Given the description of an element on the screen output the (x, y) to click on. 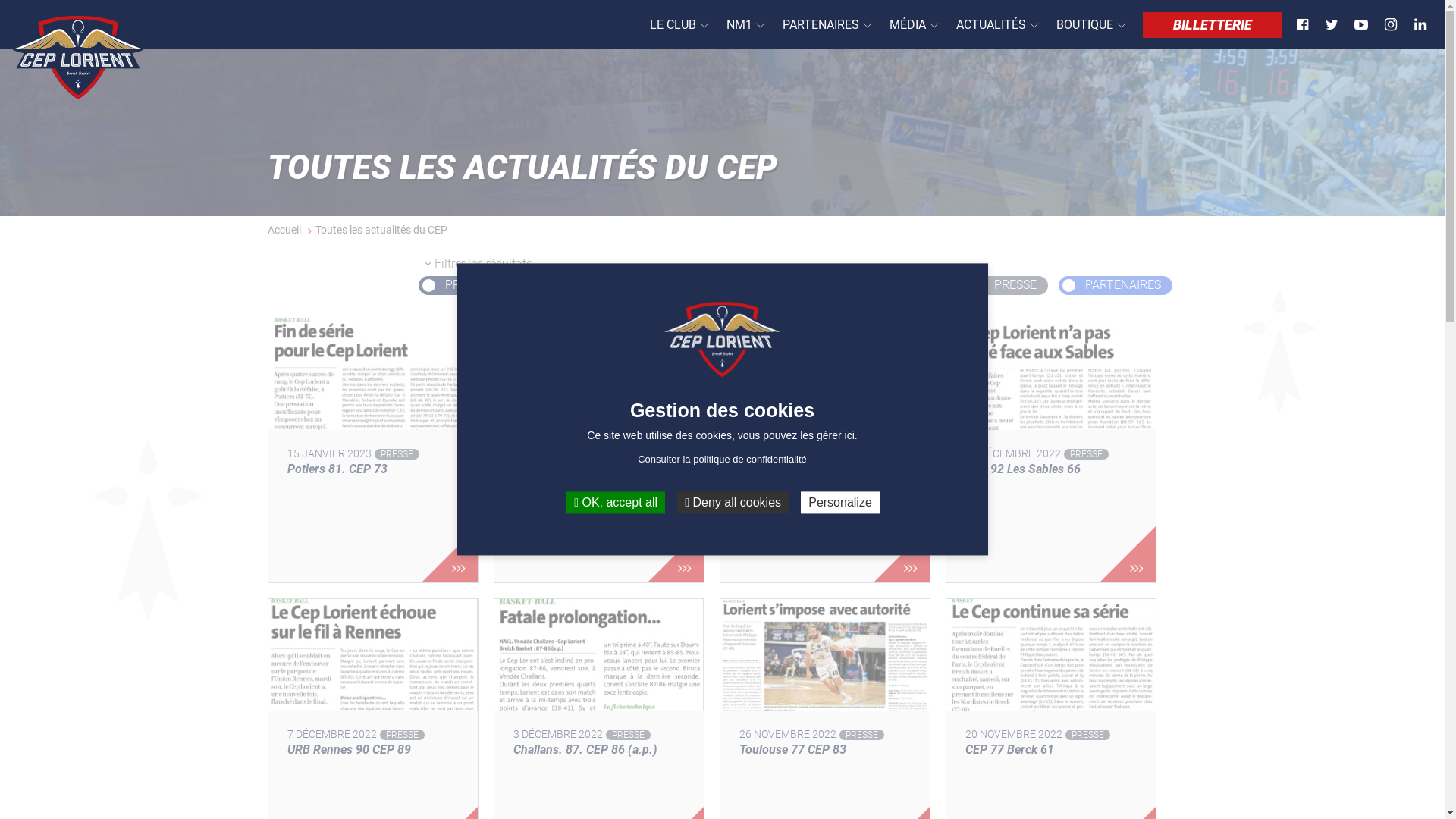
Deny all cookies Element type: text (732, 502)
OK, accept all Element type: text (615, 502)
U18NM Element type: text (625, 285)
PRESSE Element type: text (1007, 285)
PARTENAIRES Element type: text (1115, 285)
BILLETTERIE Element type: text (1212, 24)
Accueil Element type: text (283, 229)
U15NM Element type: text (536, 285)
PROS Element type: text (452, 285)
Personalize Element type: text (839, 502)
15 JANVIER 2023 PRESSE
Potiers 81. CEP 73 Element type: text (371, 450)
LA VIE DU CLUB Element type: text (738, 285)
Aller au contenu principal Element type: text (0, 0)
